Given the description of an element on the screen output the (x, y) to click on. 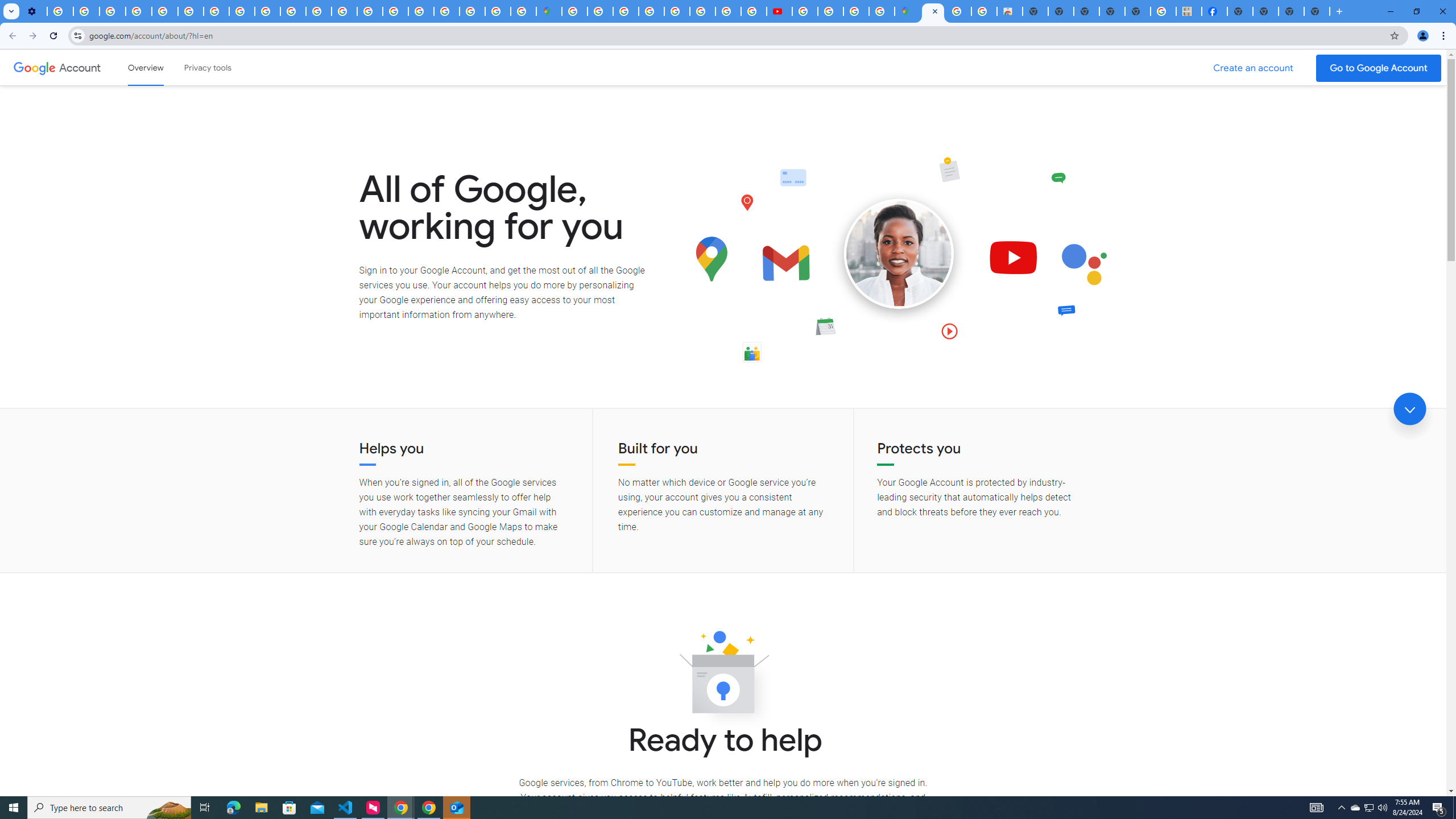
Privacy Help Center - Policies Help (344, 11)
Ready to help (722, 675)
Privacy Checkup (266, 11)
New Tab (1316, 11)
How Chrome protects your passwords - Google Chrome Help (804, 11)
Google Maps (907, 11)
Miley Cyrus | Facebook (1213, 11)
Jump link (1409, 408)
